Given the description of an element on the screen output the (x, y) to click on. 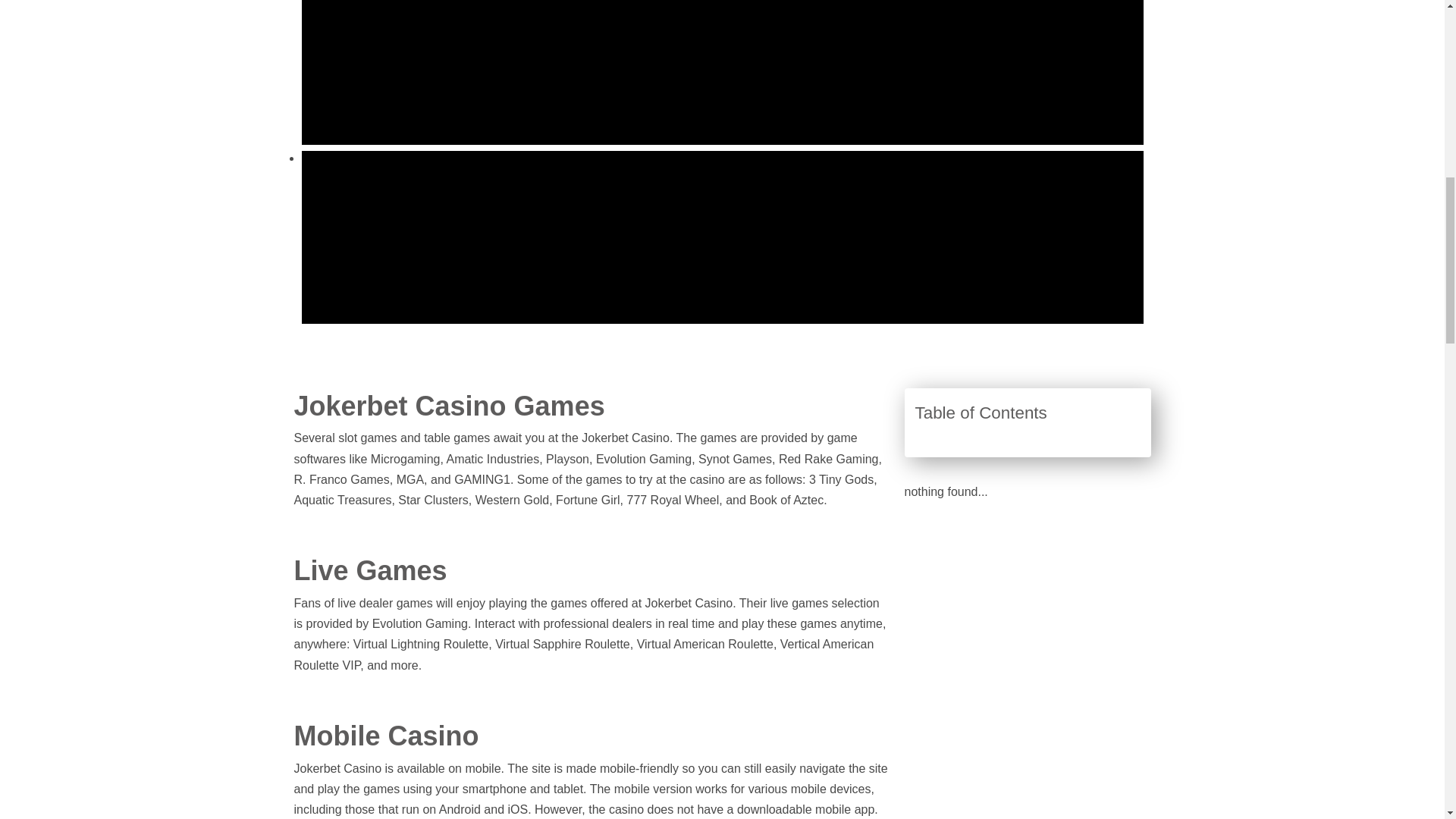
JokerBet4 (721, 26)
Jokerbet 3 (721, 79)
